Given the description of an element on the screen output the (x, y) to click on. 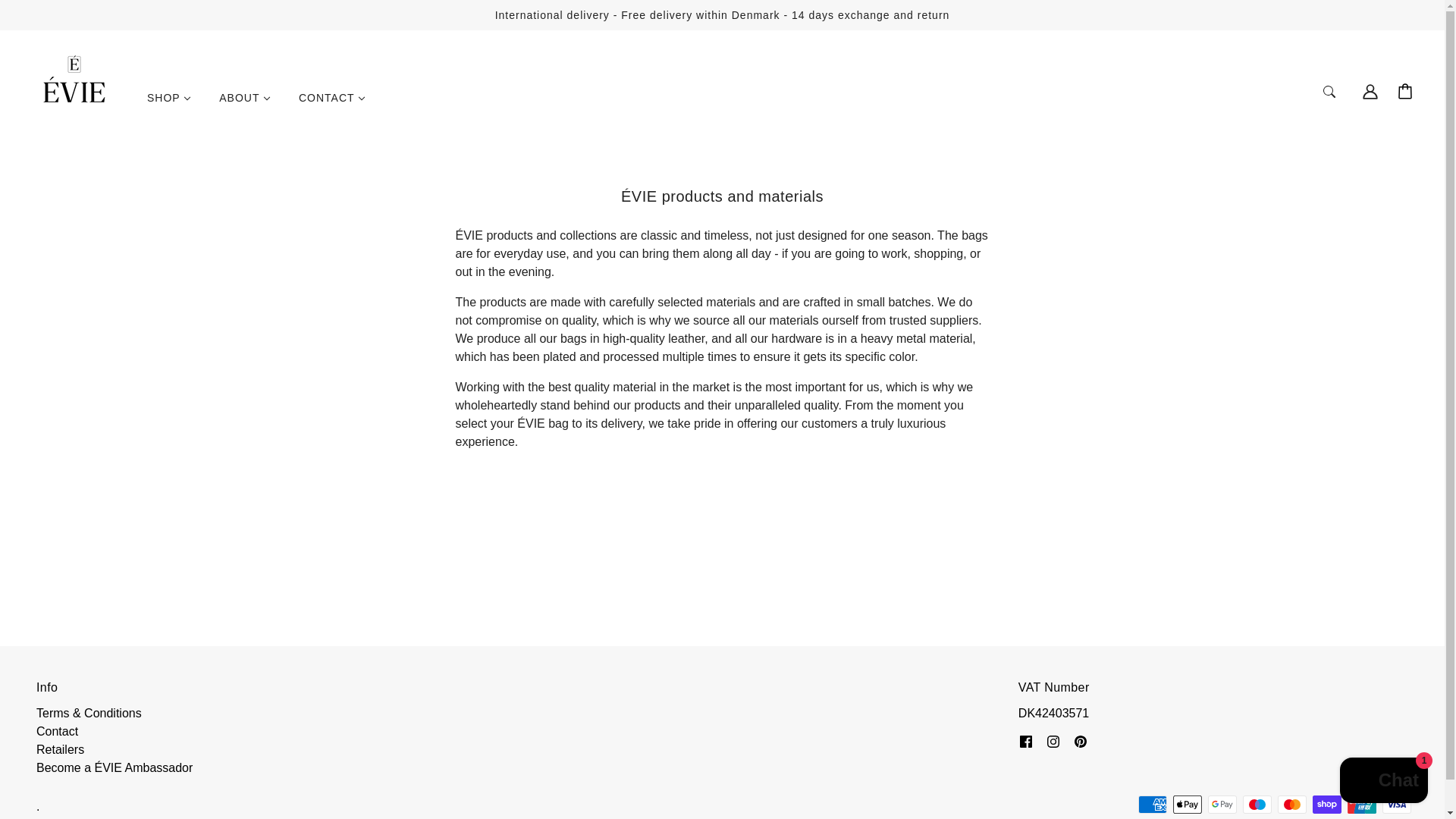
Apple Pay (1187, 804)
Shop Pay (1326, 804)
Contact (57, 730)
Visa (1395, 804)
Shopify online store chat (1383, 781)
Maestro (1257, 804)
American Express (1152, 804)
CONTACT (331, 103)
SHOP (169, 103)
Union Pay (1361, 804)
